Given the description of an element on the screen output the (x, y) to click on. 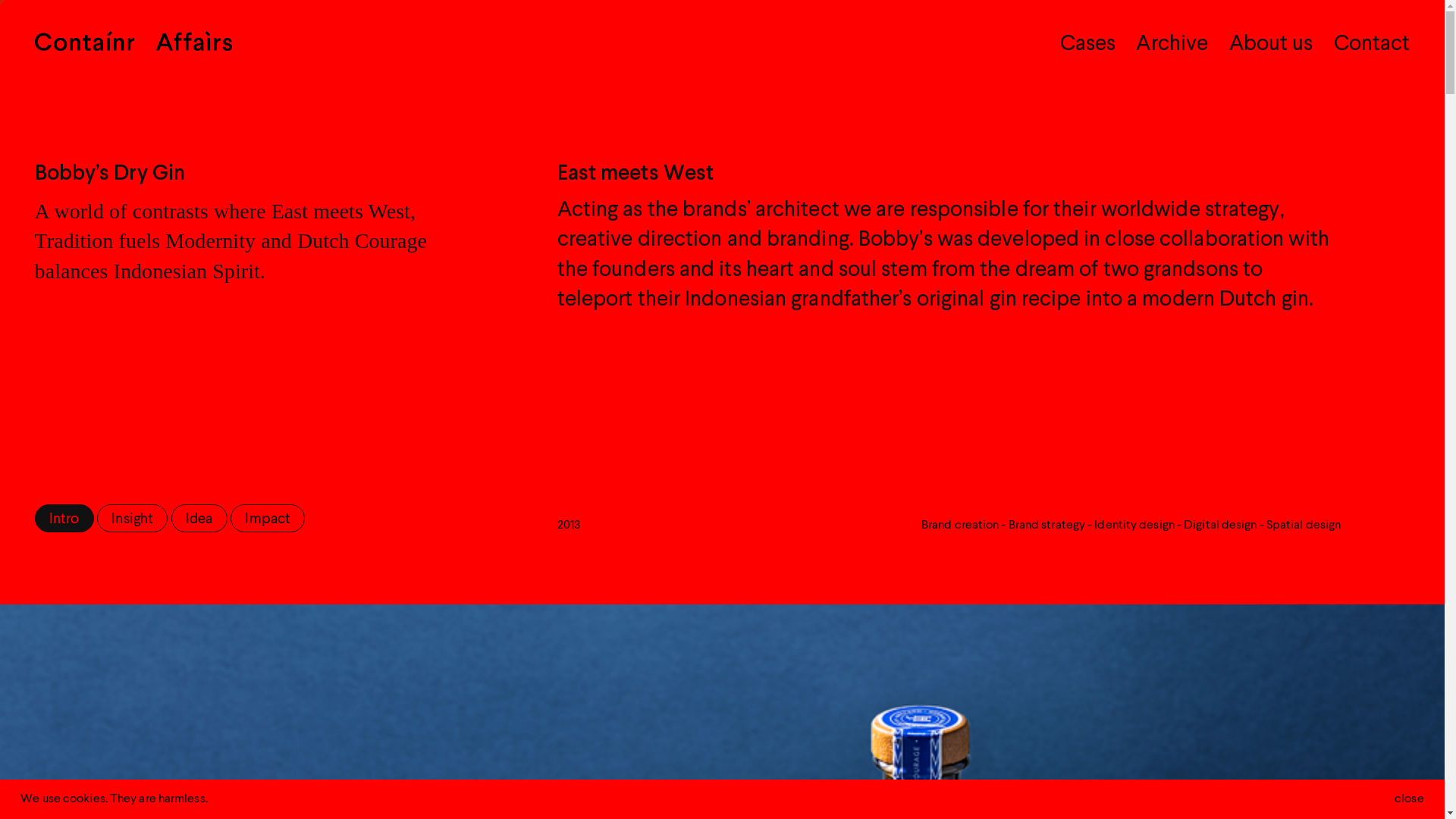
Contact (1371, 44)
Cases (1087, 44)
close (1408, 799)
About us (1270, 44)
Archive (1171, 44)
